Given the description of an element on the screen output the (x, y) to click on. 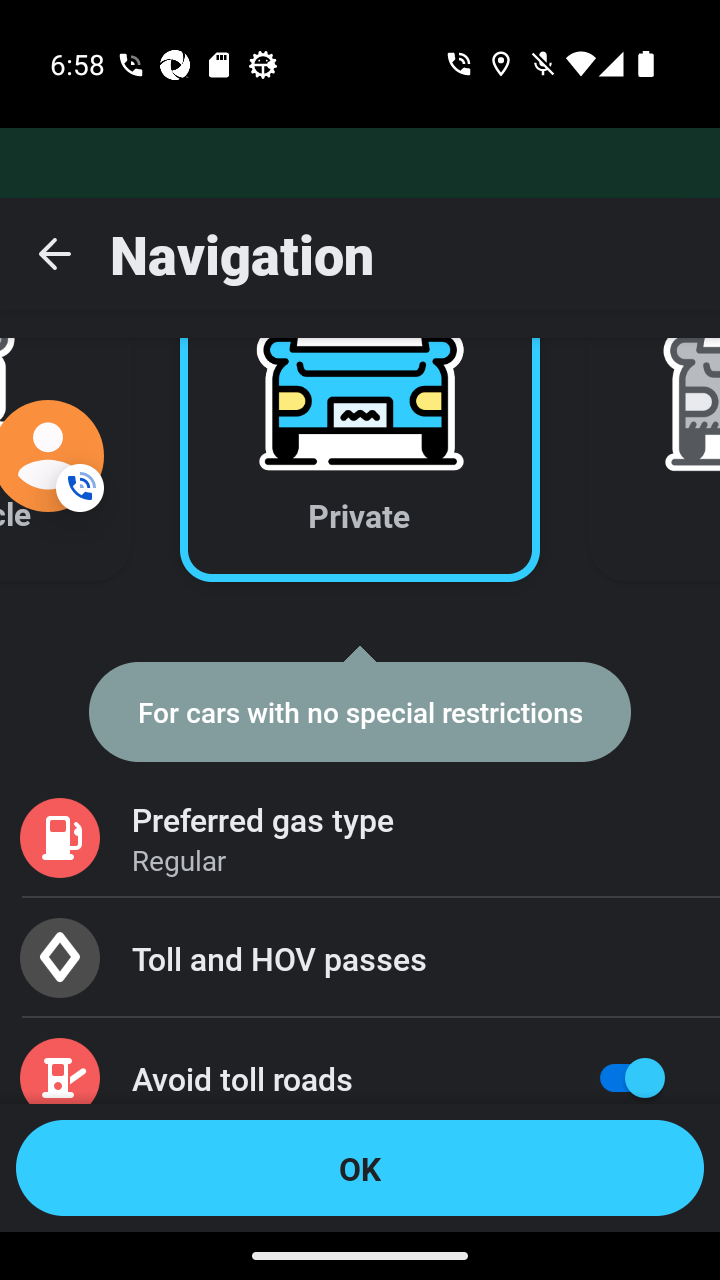
Private (359, 436)
Preferred gas type Regular (360, 838)
Toll and HOV passes (360, 957)
Avoid toll roads (360, 1060)
OK (359, 1168)
